Given the description of an element on the screen output the (x, y) to click on. 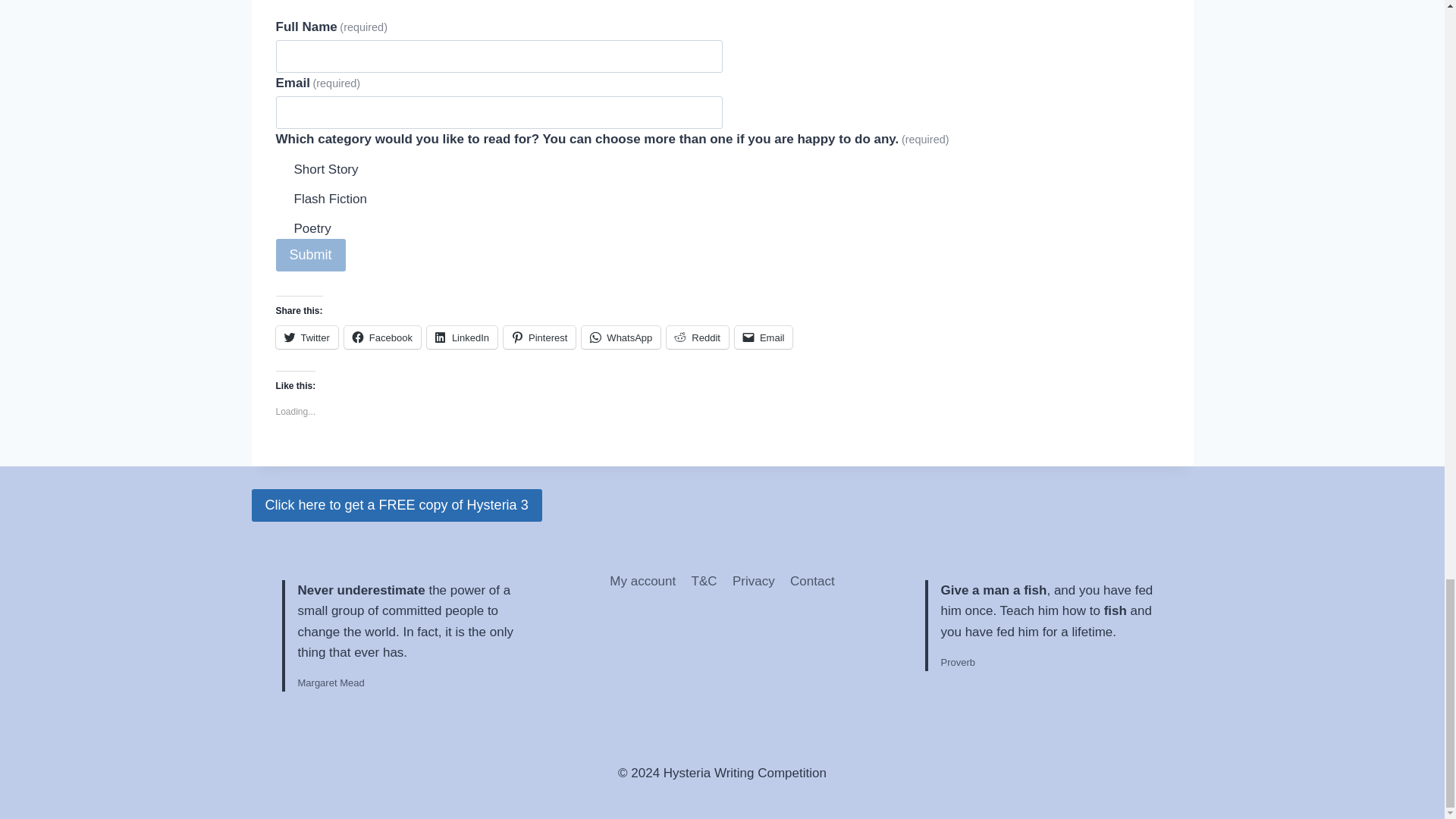
Contact (813, 581)
Twitter (306, 336)
Click to share on Twitter (306, 336)
WhatsApp (620, 336)
Email (764, 336)
LinkedIn (461, 336)
Click to email a link to a friend (764, 336)
Flash Fiction (282, 196)
Reddit (697, 336)
Poetry (282, 226)
